Given the description of an element on the screen output the (x, y) to click on. 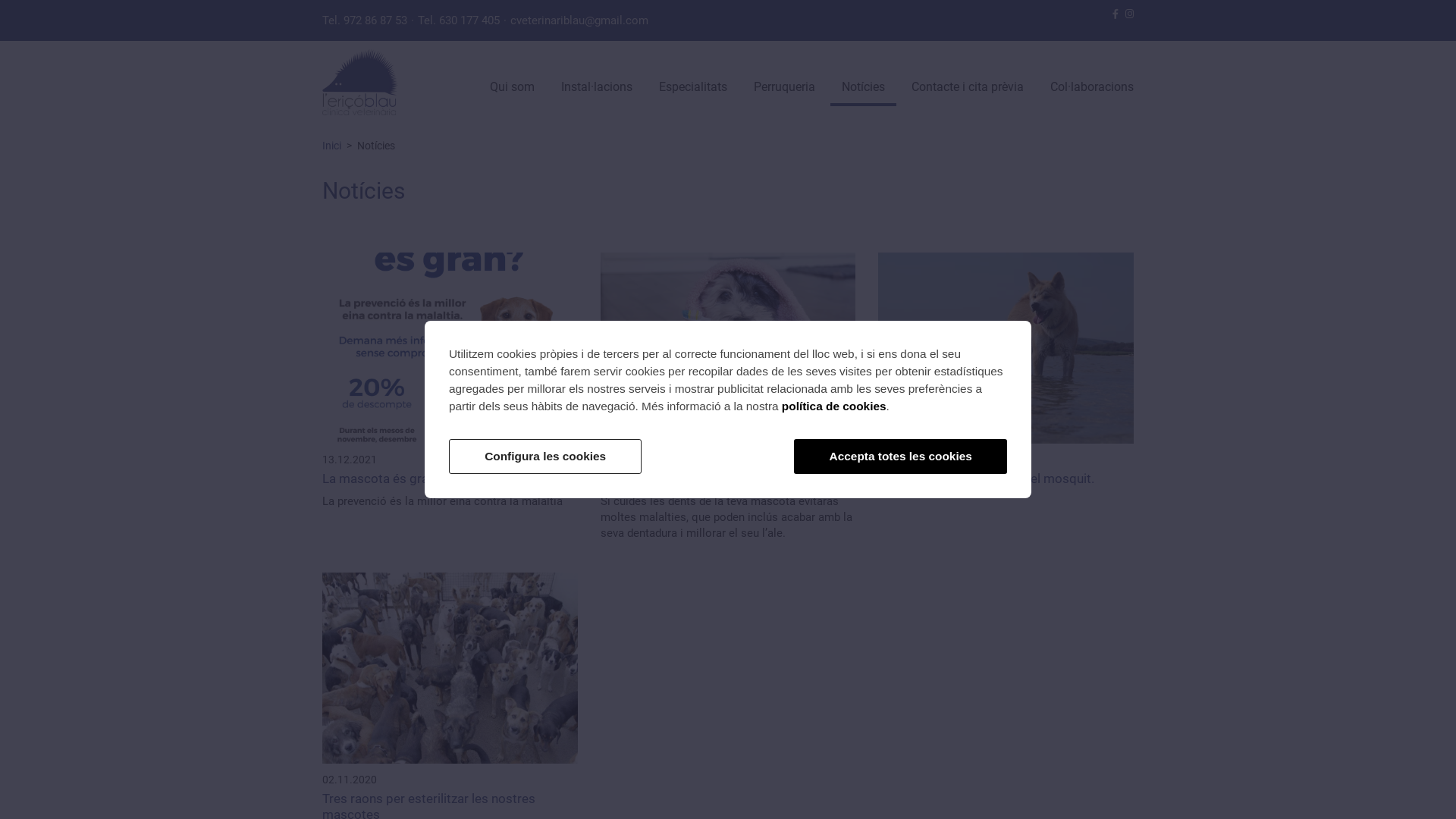
Accepta totes les cookies Element type: text (900, 456)
Inici Element type: text (334, 145)
972 86 87 53 Element type: text (375, 20)
cveterinariblau@gmail.com Element type: text (579, 20)
Perruqueria Element type: text (784, 88)
Especialitats Element type: text (692, 88)
Qui som Element type: text (512, 88)
Configura les cookies Element type: text (544, 456)
630 177 405 Element type: text (469, 20)
